Given the description of an element on the screen output the (x, y) to click on. 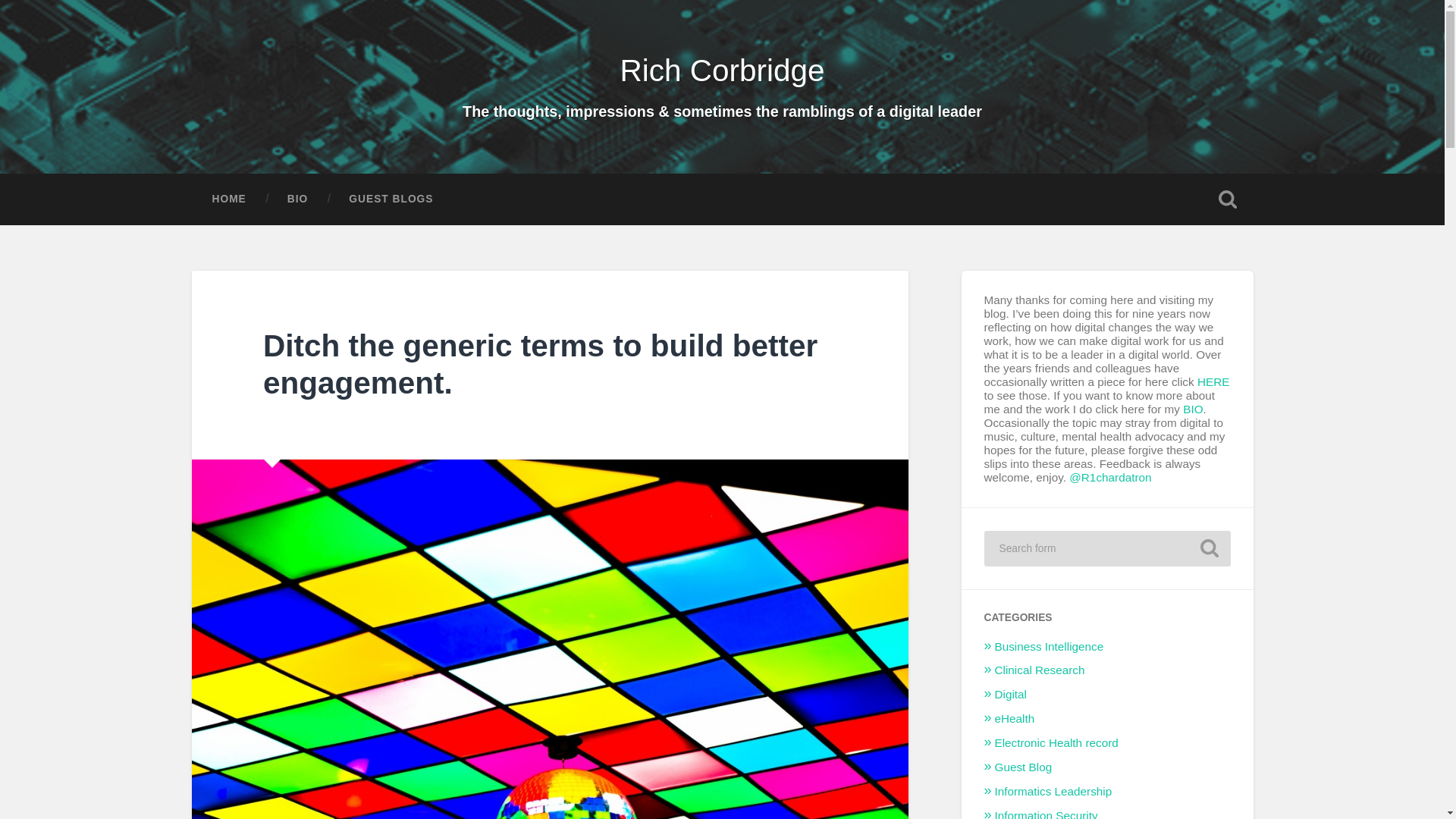
BIO (1192, 408)
Digital (1010, 694)
Electronic Health record (1056, 742)
Business Intelligence (1048, 645)
Rich Corbridge (722, 70)
Clinical Research (1039, 669)
Search (1209, 547)
Information Security (1045, 814)
eHealth (1014, 717)
Ditch the generic terms to build better engagement. (539, 364)
